Given the description of an element on the screen output the (x, y) to click on. 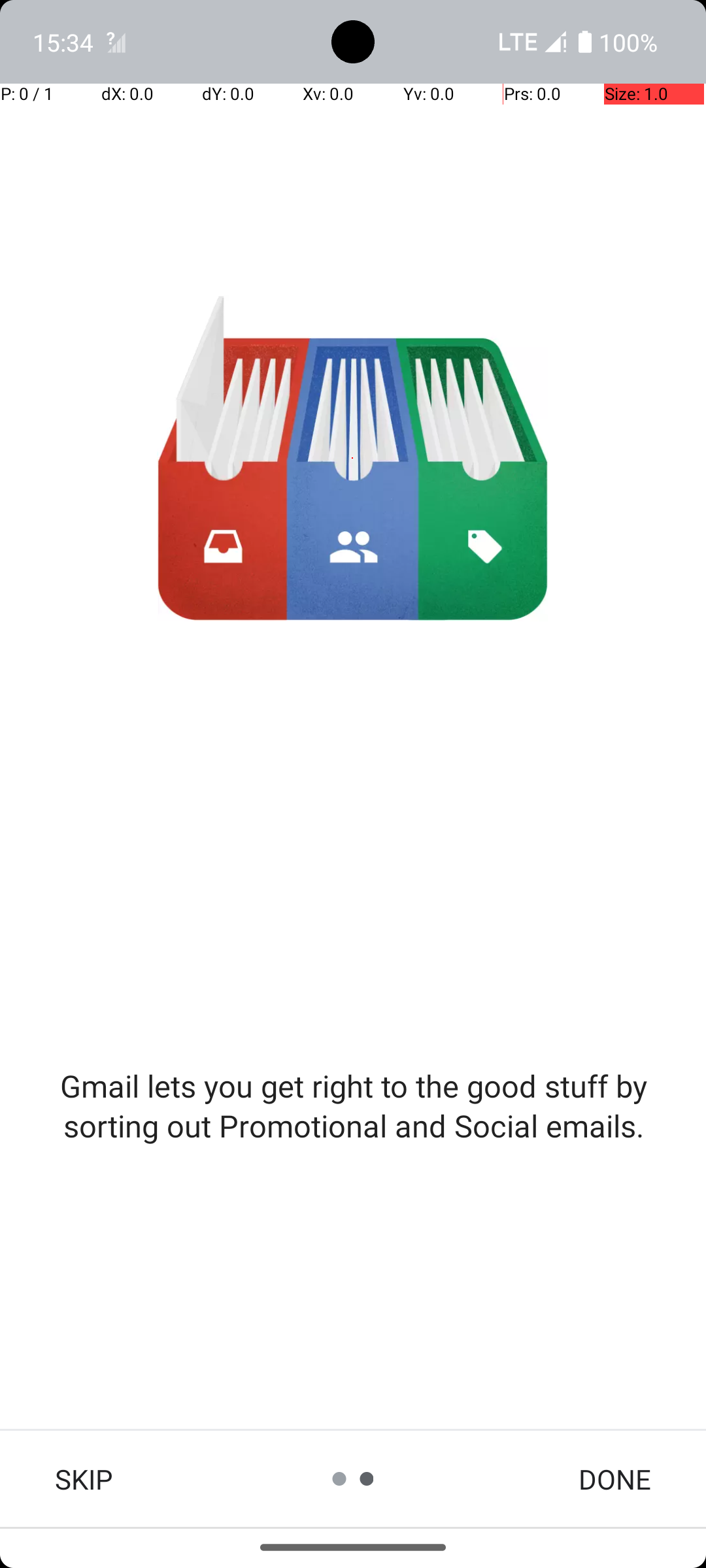
SKIP Element type: android.widget.TextView (83, 1478)
DONE Element type: android.widget.TextView (614, 1478)
Gmail lets you get right to the good stuff by sorting out Promotional and Social emails. Element type: android.widget.TextView (352, 1105)
